Given the description of an element on the screen output the (x, y) to click on. 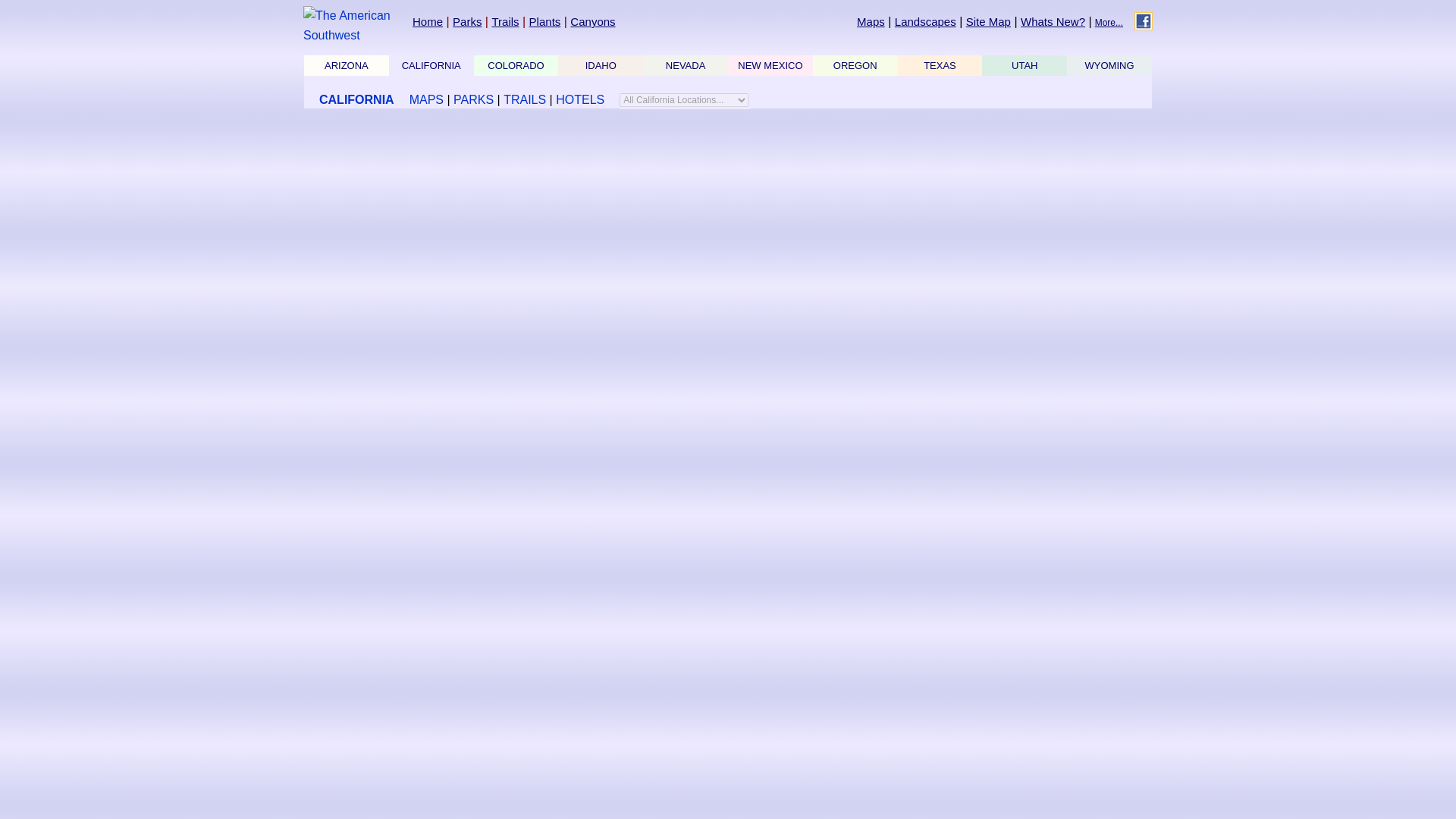
Index of all pages on americansouthwest.net (988, 21)
Whats New? (1052, 21)
Idaho (600, 65)
Plants of the Southwest (544, 21)
California (431, 65)
New Mexico (770, 65)
Canyons (592, 21)
Maps (871, 21)
Southwest USA maps and driving distances (871, 21)
Plants (544, 21)
Trails (505, 21)
Follow americansouthwest.net on Facebook (1143, 21)
Oregon (854, 65)
Utah (1023, 65)
Arizona (346, 65)
